Given the description of an element on the screen output the (x, y) to click on. 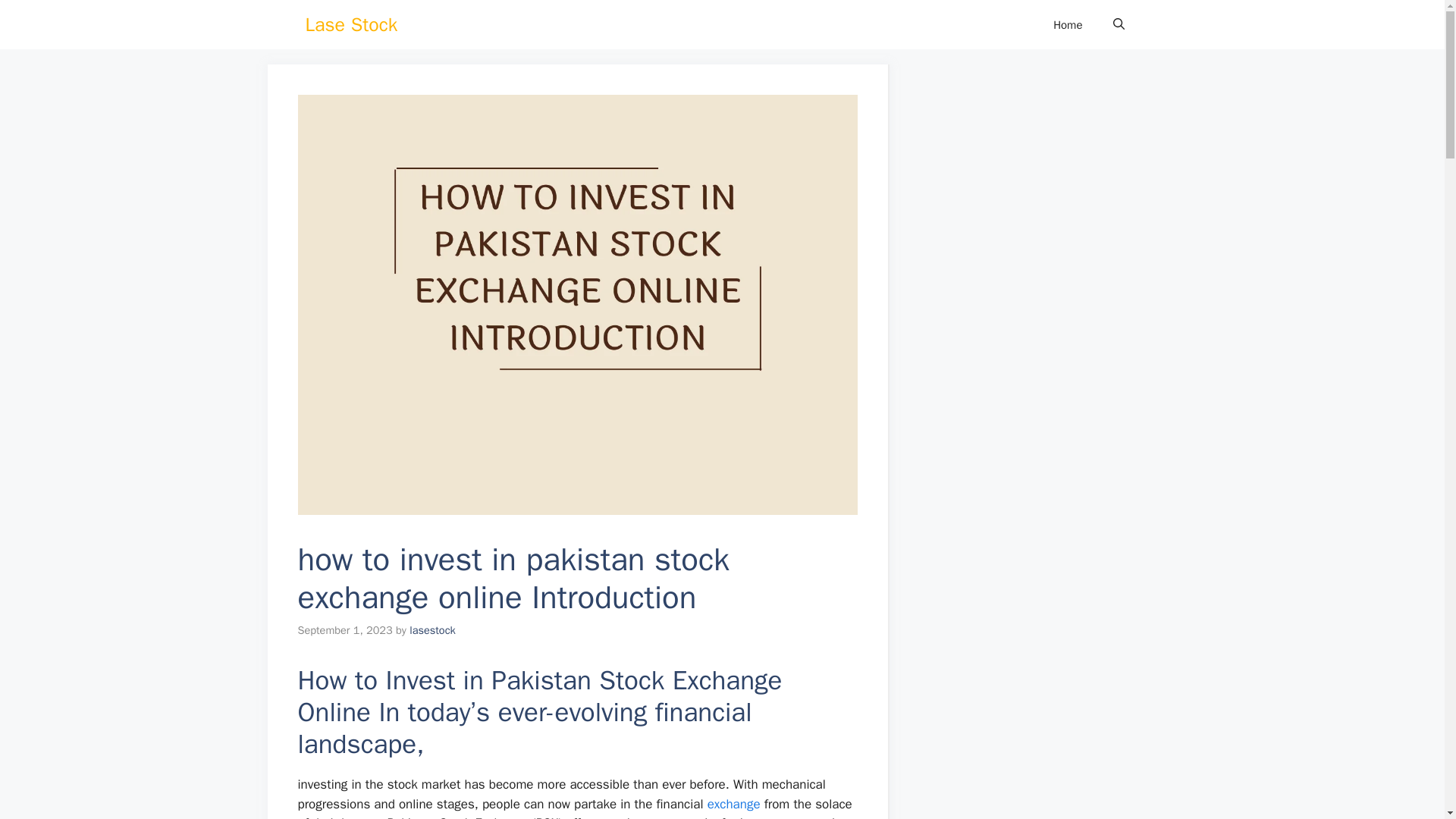
lasestock (432, 630)
View all posts by lasestock (432, 630)
Lase Stock (350, 24)
Home (1067, 23)
exchange (733, 804)
